Given the description of an element on the screen output the (x, y) to click on. 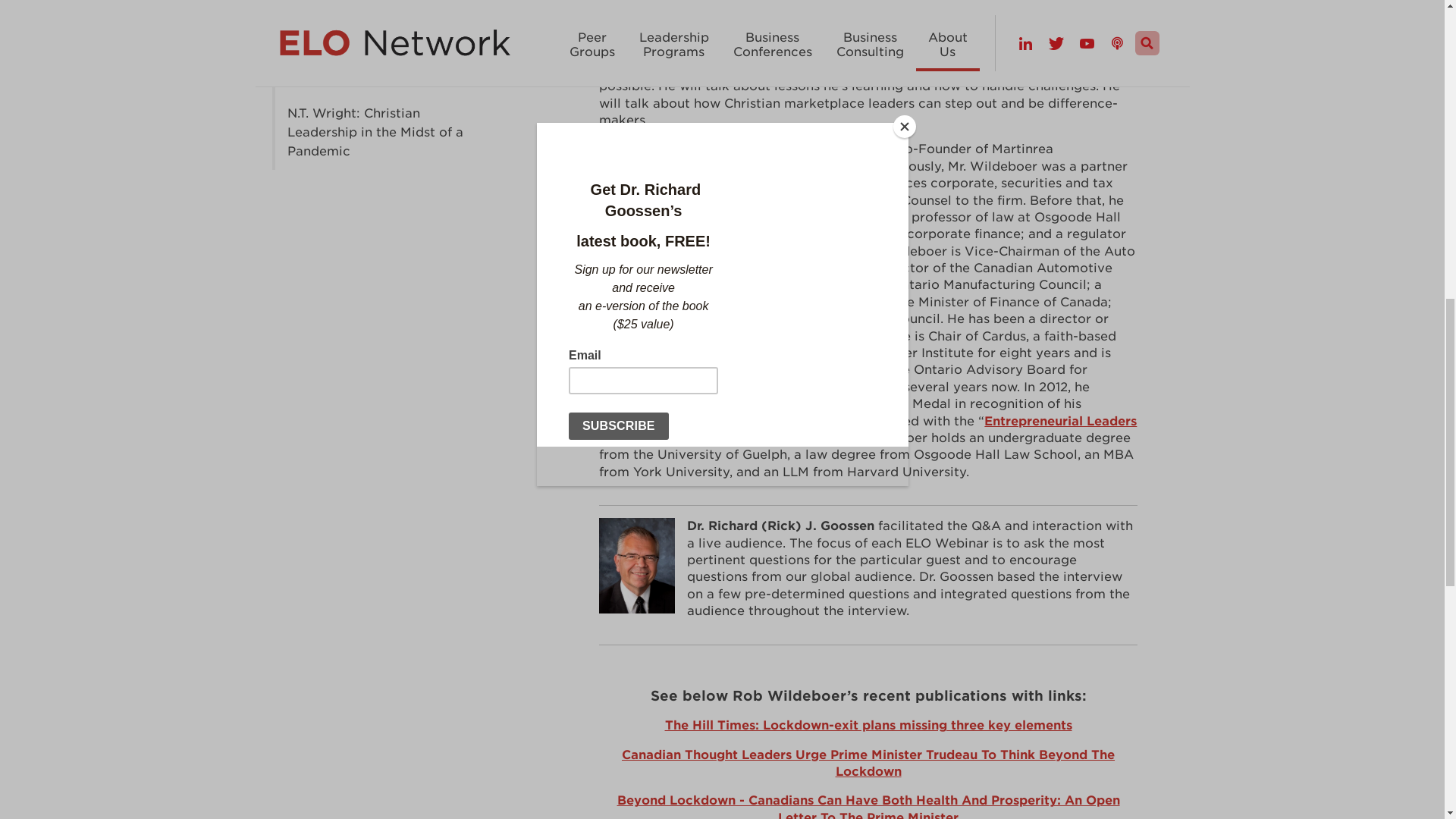
Entrepreneurial Leaders Award (867, 429)
N.T. Wright: Christian Leadership in the Midst of a Pandemic (387, 131)
